Given the description of an element on the screen output the (x, y) to click on. 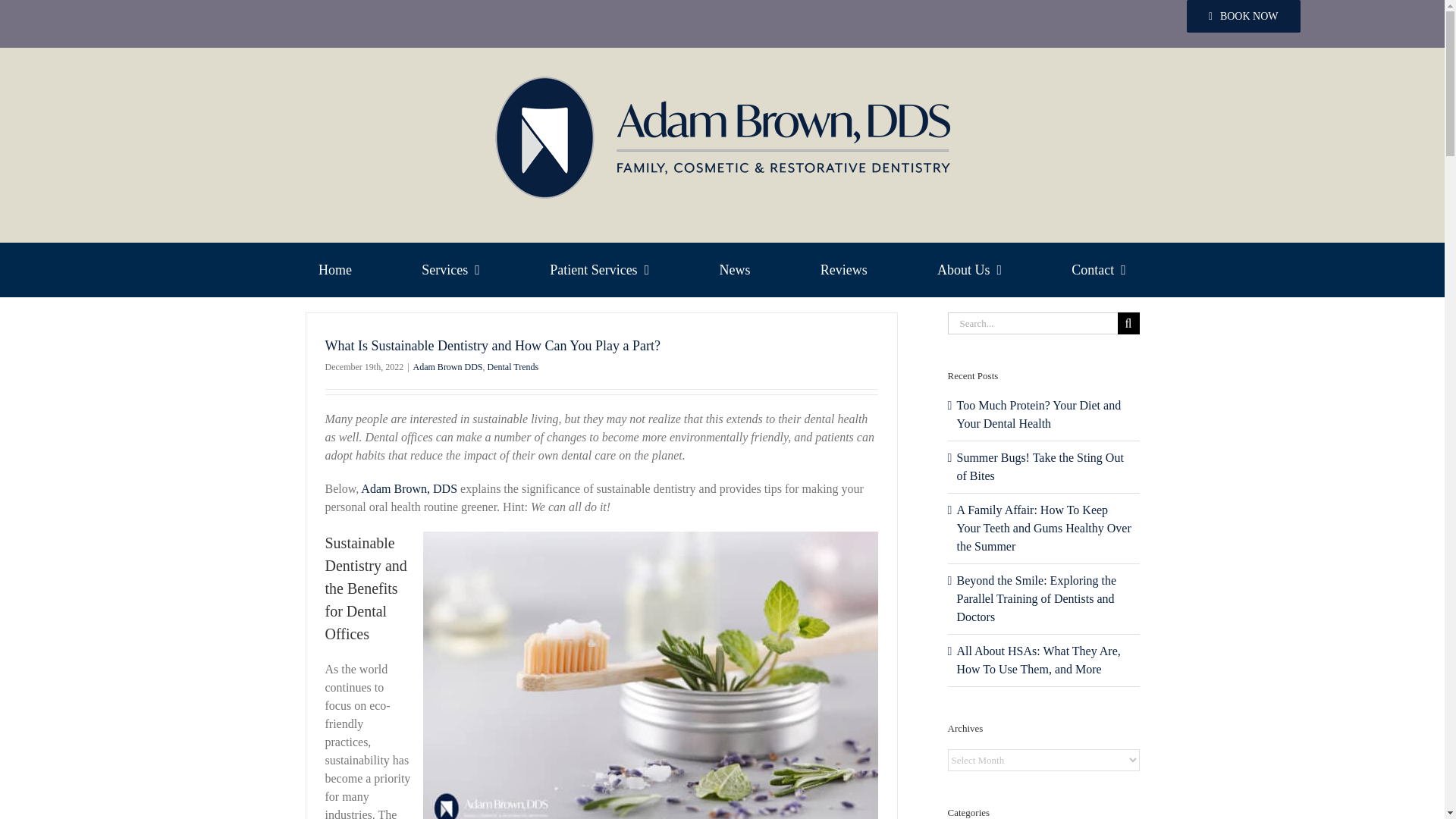
BOOK NOW (1243, 16)
